Given the description of an element on the screen output the (x, y) to click on. 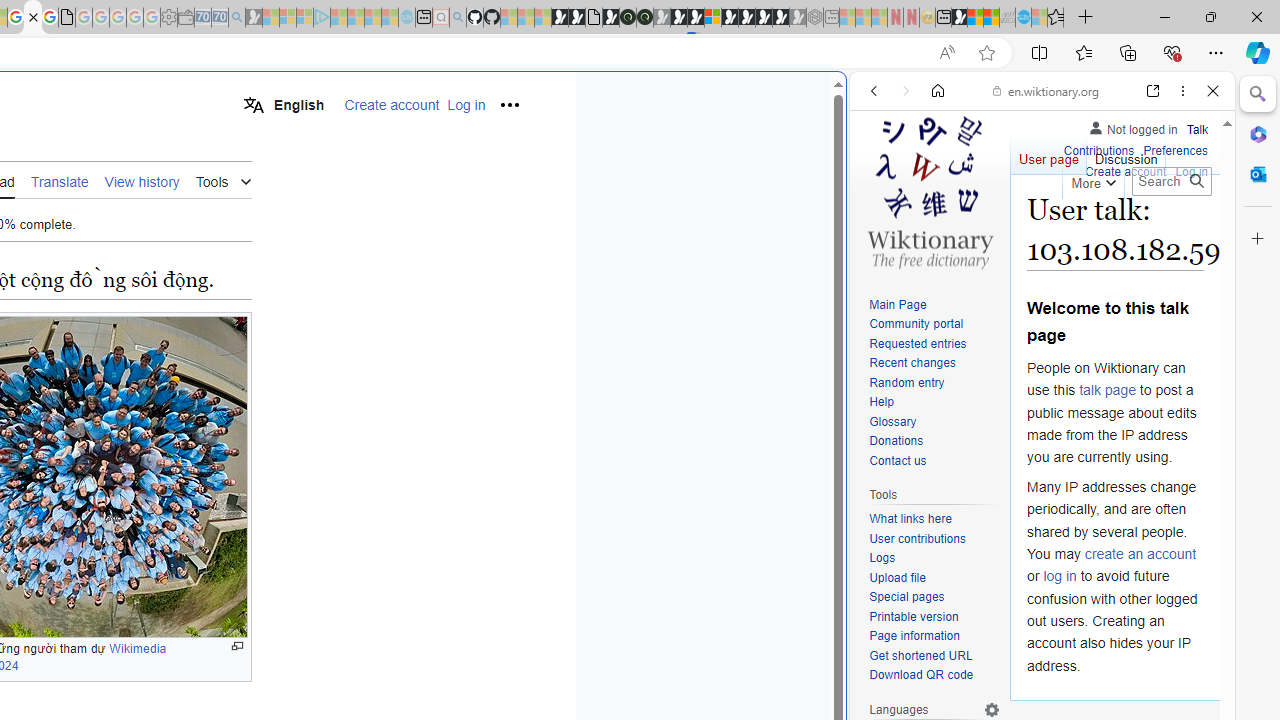
Template:Main page/vi - MediaWiki (32, 17)
User page (1048, 154)
Search or enter web address (343, 191)
Page information (934, 637)
Donations (896, 441)
Logs (882, 557)
Main Page (934, 305)
